Given the description of an element on the screen output the (x, y) to click on. 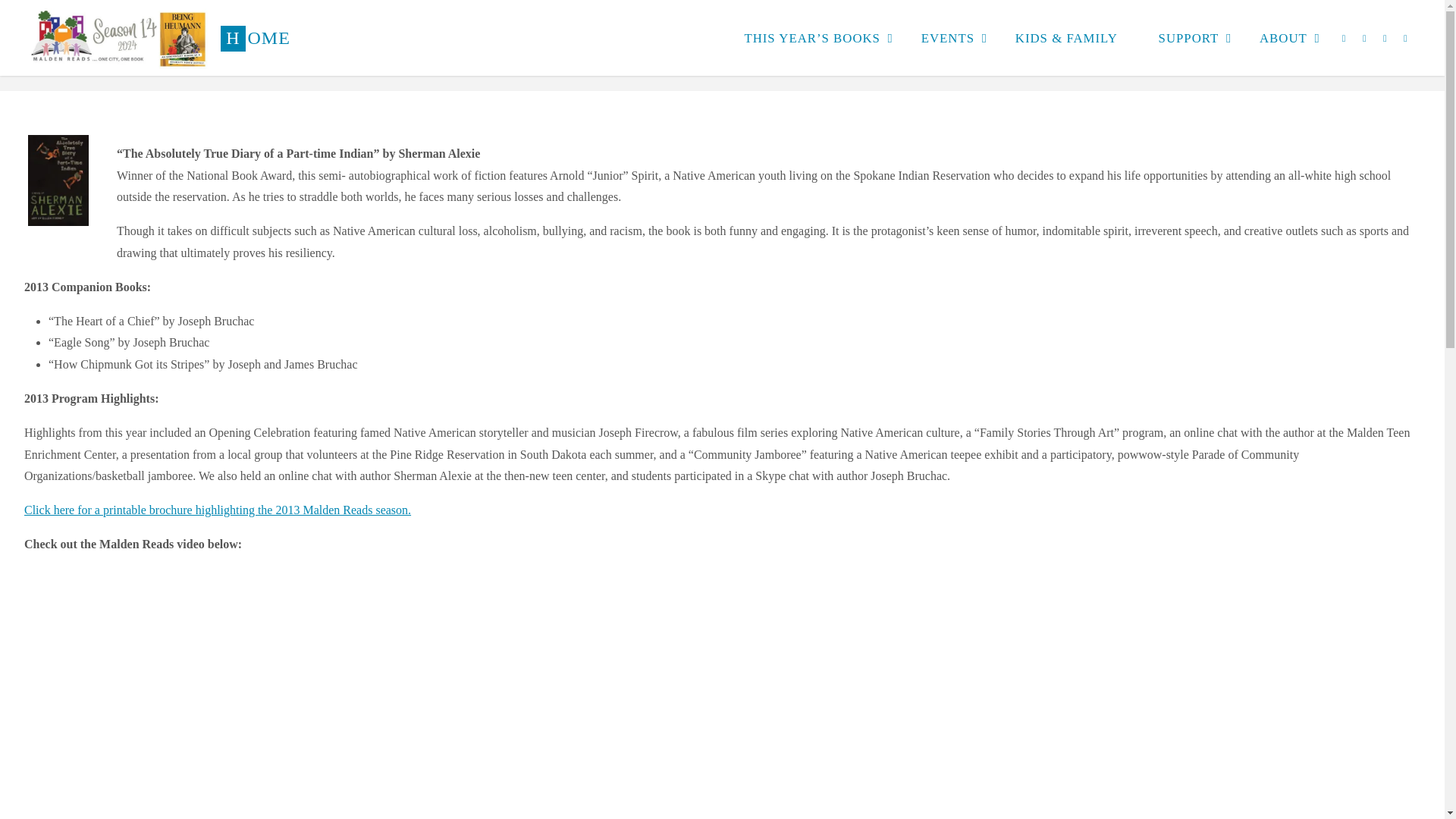
Home (118, 37)
HOME (255, 37)
One City, One Book (255, 37)
